Given the description of an element on the screen output the (x, y) to click on. 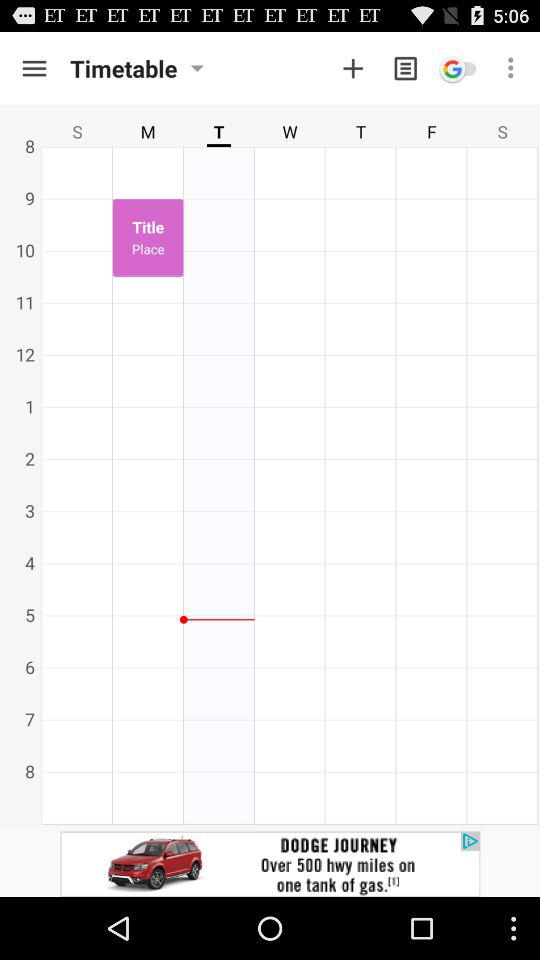
menu button (34, 68)
